Given the description of an element on the screen output the (x, y) to click on. 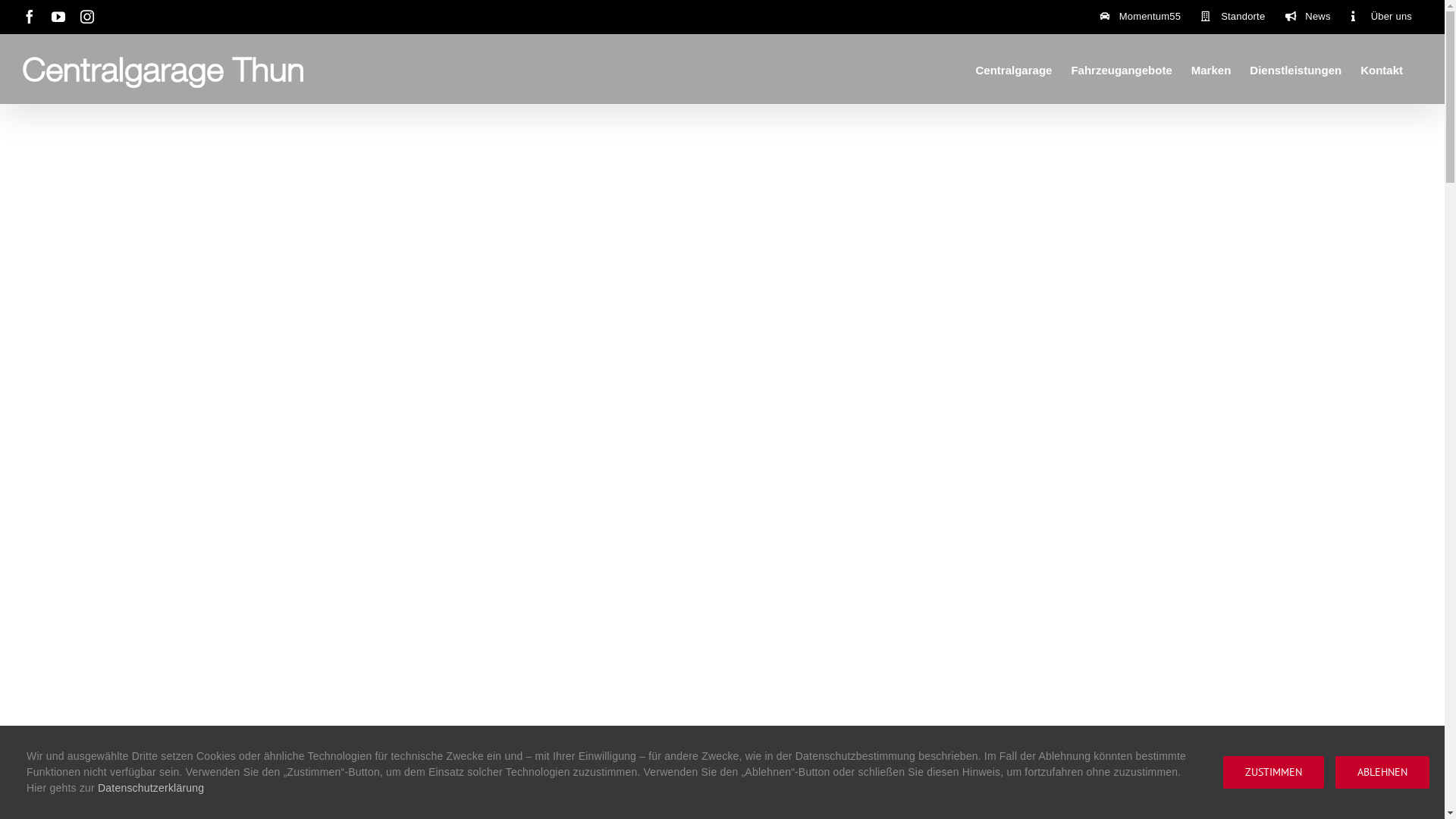
Centralgarage Element type: text (1013, 68)
Facebook Element type: text (29, 16)
ZUSTIMMEN Element type: text (1273, 772)
Momentum55 Element type: text (1139, 16)
News Element type: text (1307, 16)
Fahrzeugangebote Element type: text (1120, 68)
ABLEHNEN Element type: text (1382, 772)
Instagram Element type: text (87, 16)
Dienstleistungen Element type: text (1295, 68)
Kontakt Element type: text (1381, 68)
Standorte Element type: text (1232, 16)
YouTube Element type: text (58, 16)
Marken Element type: text (1211, 68)
